Given the description of an element on the screen output the (x, y) to click on. 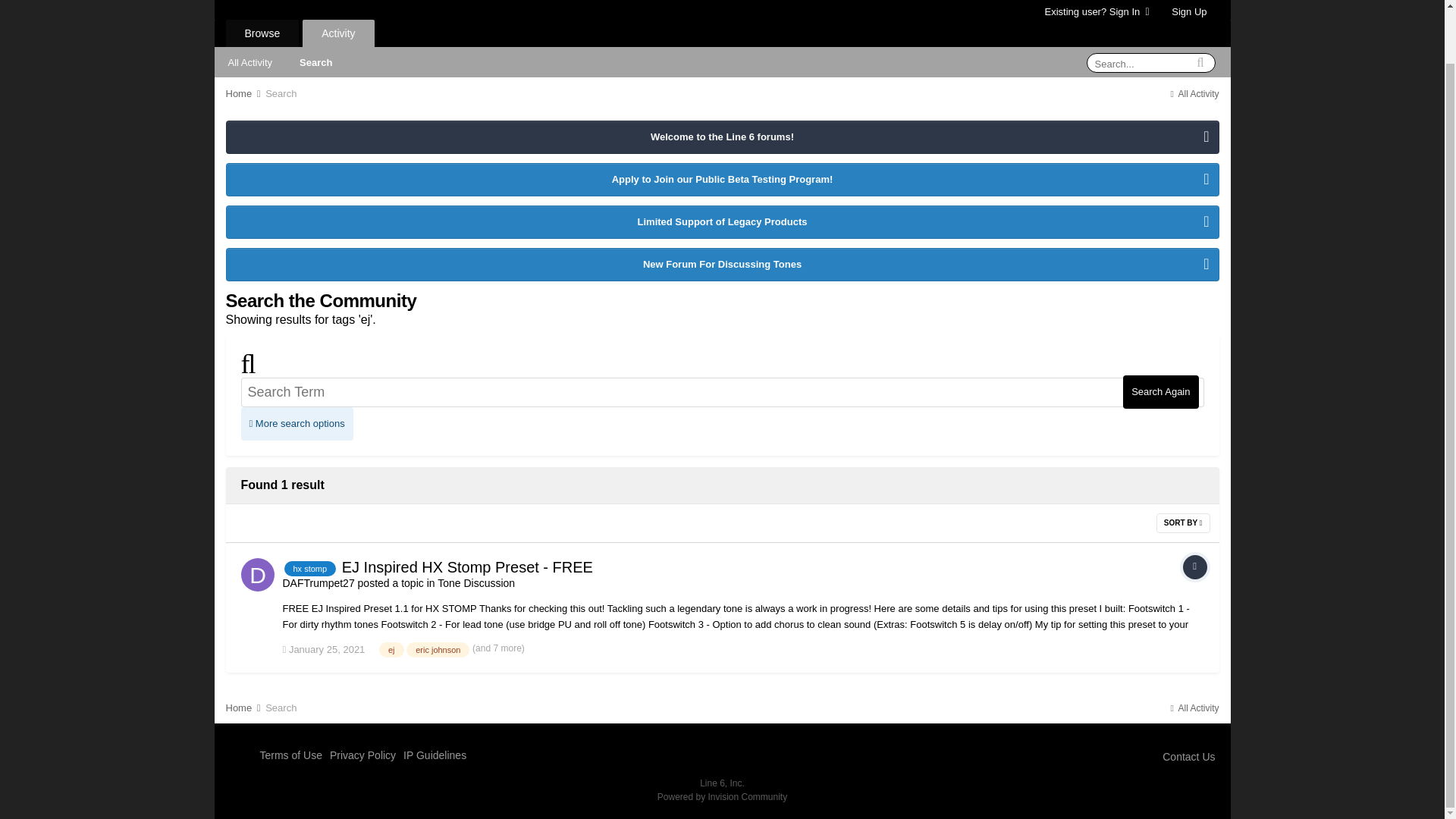
Topic (1194, 567)
Find other content tagged with 'ej' (391, 649)
All Activity (1192, 93)
All Activity (249, 61)
Existing user? Sign In   (1097, 11)
Search Again (1160, 391)
Find other content tagged with 'hx stomp' (309, 568)
Go to DAFTrumpet27's profile (317, 582)
Limited Support of Legacy Products (721, 222)
New Forum For Discussing Tones (721, 264)
Find other content tagged with 'eric johnson' (437, 649)
Activity (338, 32)
Sign Up (1188, 11)
Welcome to the Line 6 forums! (721, 137)
Browse (262, 32)
